Given the description of an element on the screen output the (x, y) to click on. 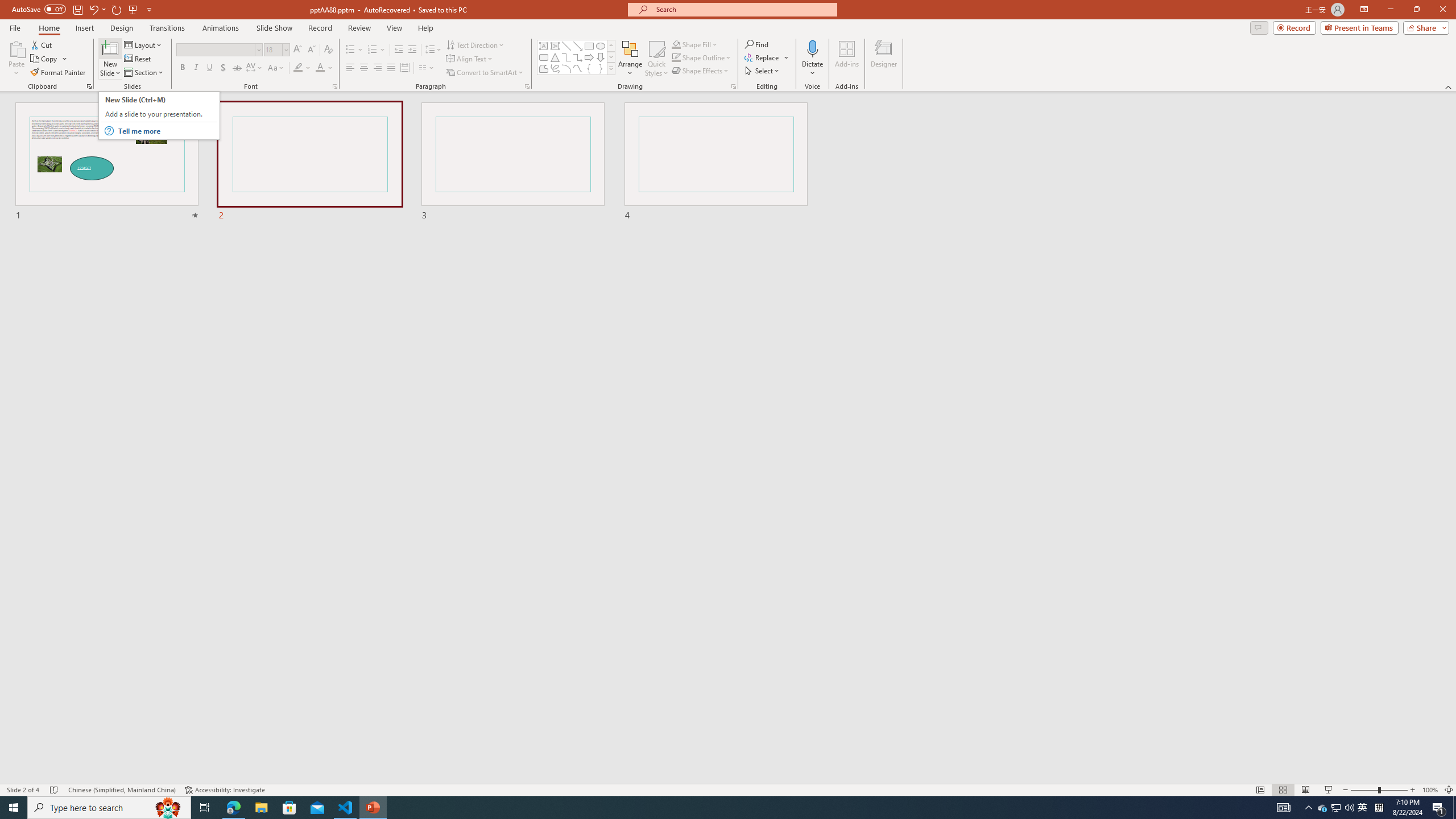
Open (285, 49)
Format Object... (733, 85)
Connector: Elbow Arrow (577, 57)
Class: NetUIImage (610, 68)
Arrow: Down (600, 57)
Decrease Font Size (310, 49)
Right Brace (600, 68)
Line Spacing (433, 49)
Rectangle: Rounded Corners (543, 57)
Zoom 100% (1430, 790)
Copy (45, 58)
Home (48, 28)
Class: MsoCommandBar (728, 789)
Ribbon Display Options (1364, 9)
